Given the description of an element on the screen output the (x, y) to click on. 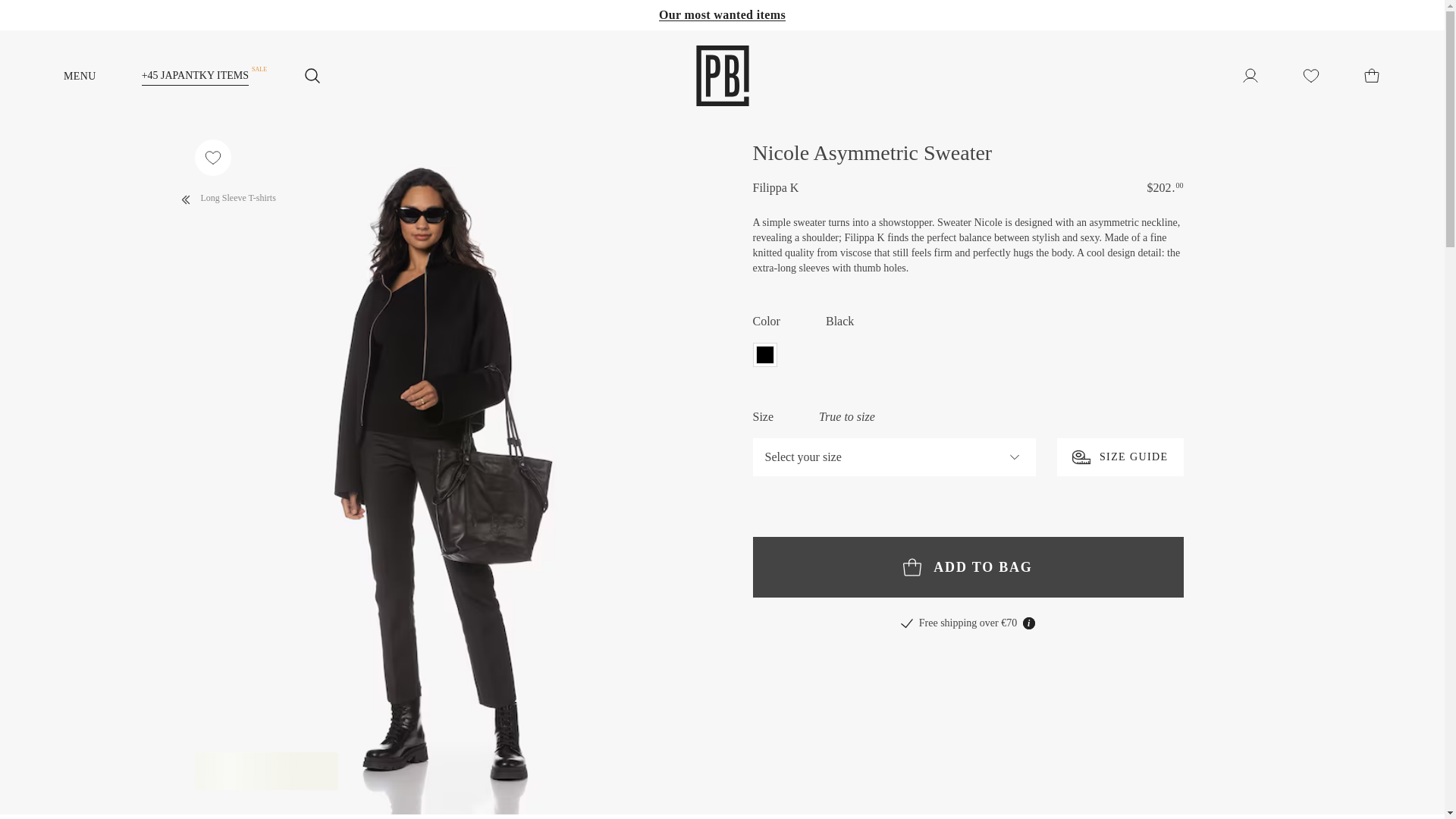
Long Sleeve T-shirts (225, 196)
MENU (102, 74)
SIZE GUIDE (1120, 456)
Select your size (893, 456)
i (1029, 623)
Filippa K (774, 188)
Our most wanted items (722, 14)
Black (764, 354)
ADD TO BAG (967, 567)
